Given the description of an element on the screen output the (x, y) to click on. 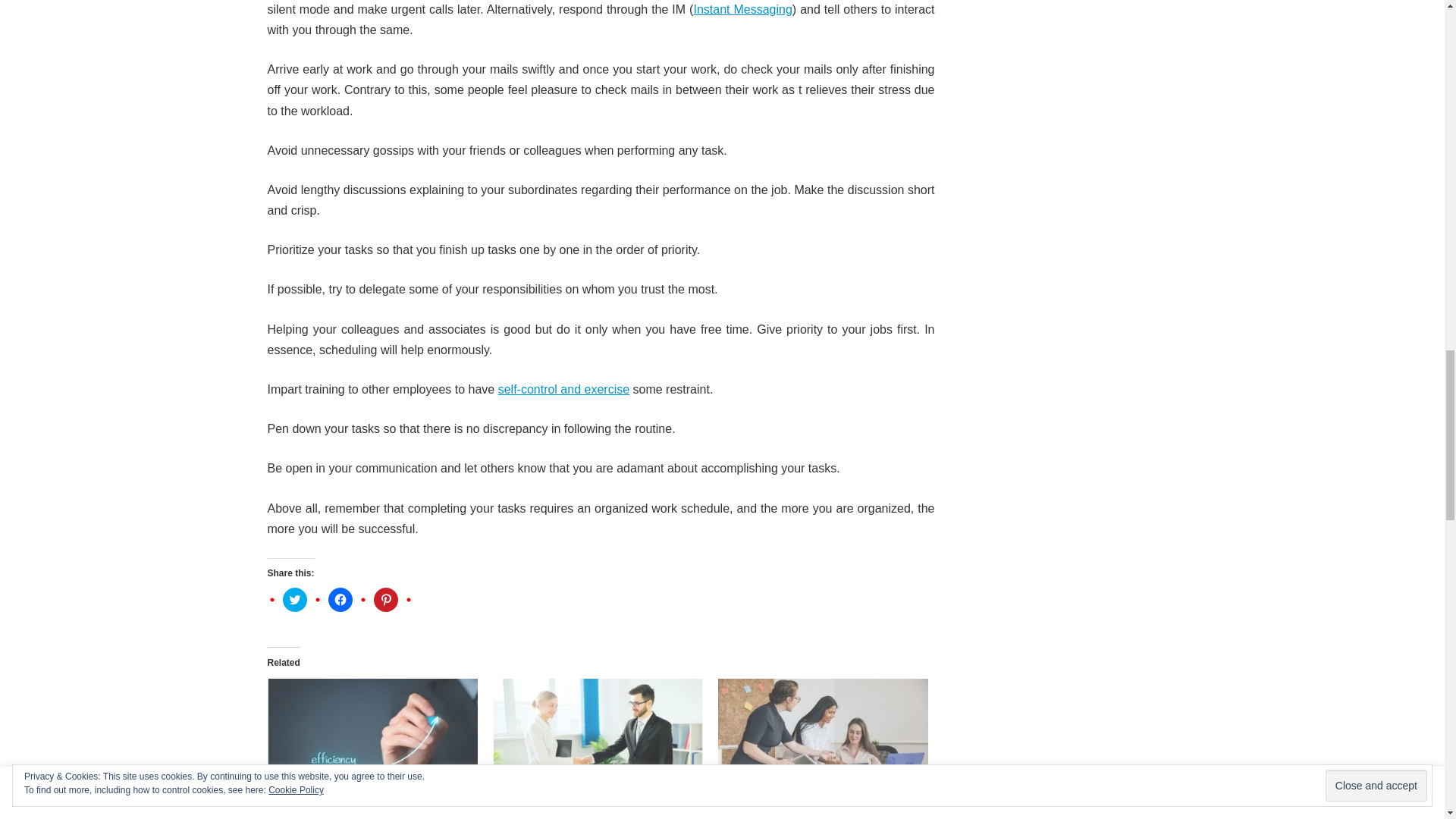
Click to share on Facebook (339, 599)
Click to share on Pinterest (384, 599)
5 Essential Tips for Increasing Business Efficiency (371, 738)
Click to share on Twitter (293, 599)
